Given the description of an element on the screen output the (x, y) to click on. 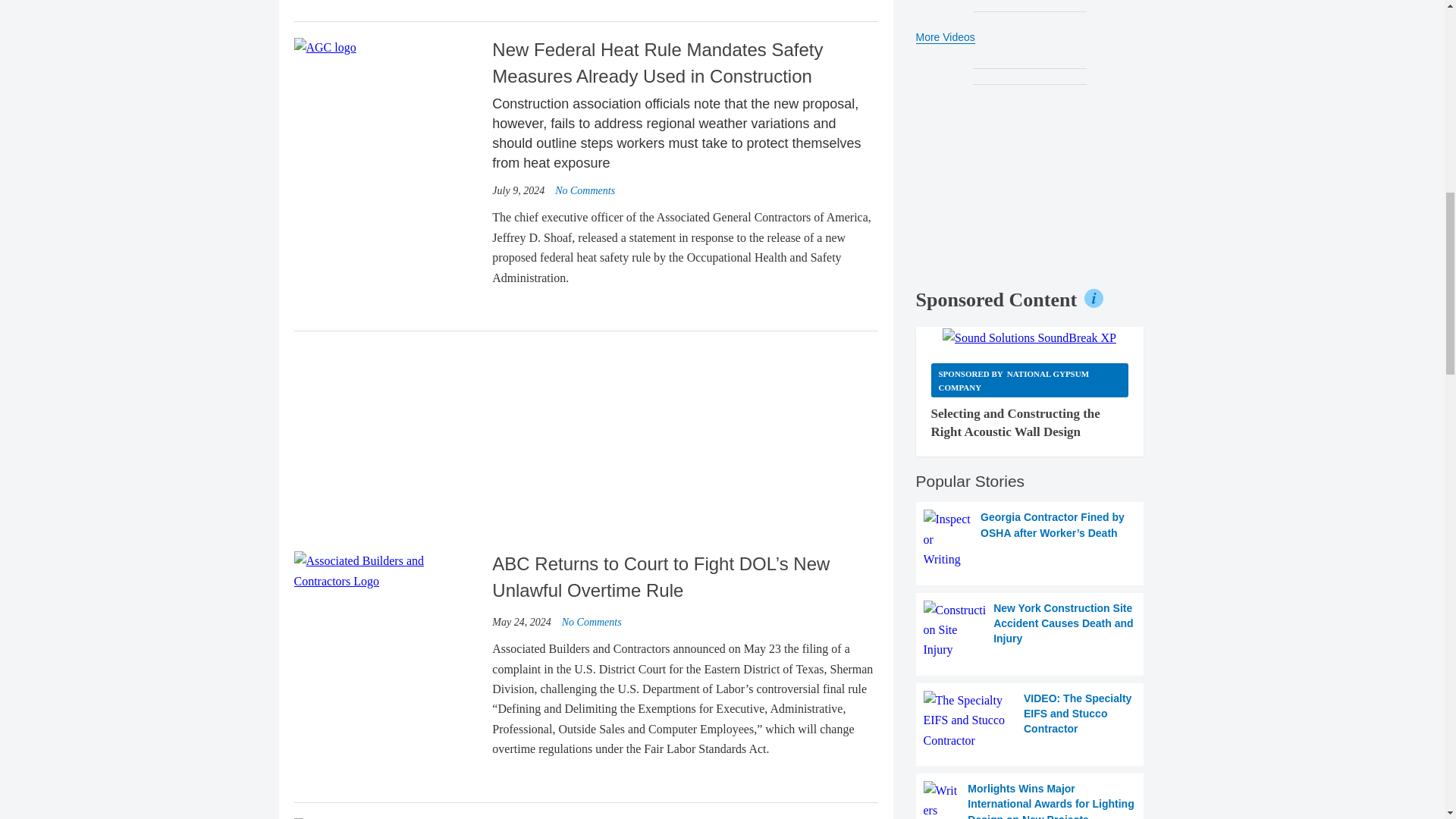
AGC logo (325, 47)
Associated Builders and Contractors Logo (387, 571)
